Given the description of an element on the screen output the (x, y) to click on. 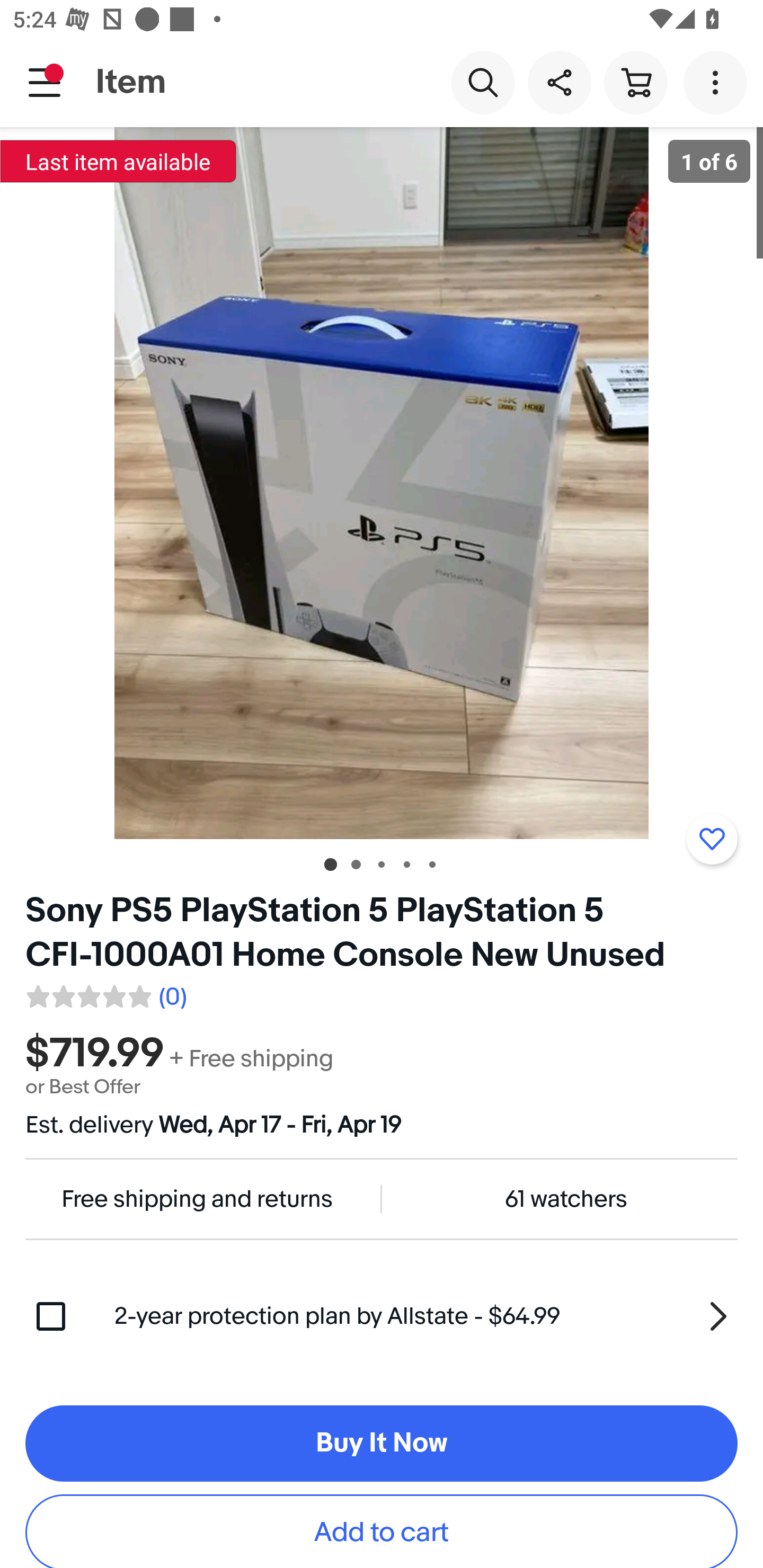
Main navigation, notification is pending, open (44, 82)
Search (482, 81)
Share this item (559, 81)
Cart button shopping cart (635, 81)
More options (718, 81)
Item image 1 of 6 (381, 482)
Last item available (118, 161)
Add to watchlist (711, 838)
0 reviews. Average rating 0.0 out of five 0.0 (0) (105, 993)
2-year protection plan by Allstate - $64.99 (425, 1315)
Buy It Now (381, 1442)
Add to cart (381, 1531)
